Given the description of an element on the screen output the (x, y) to click on. 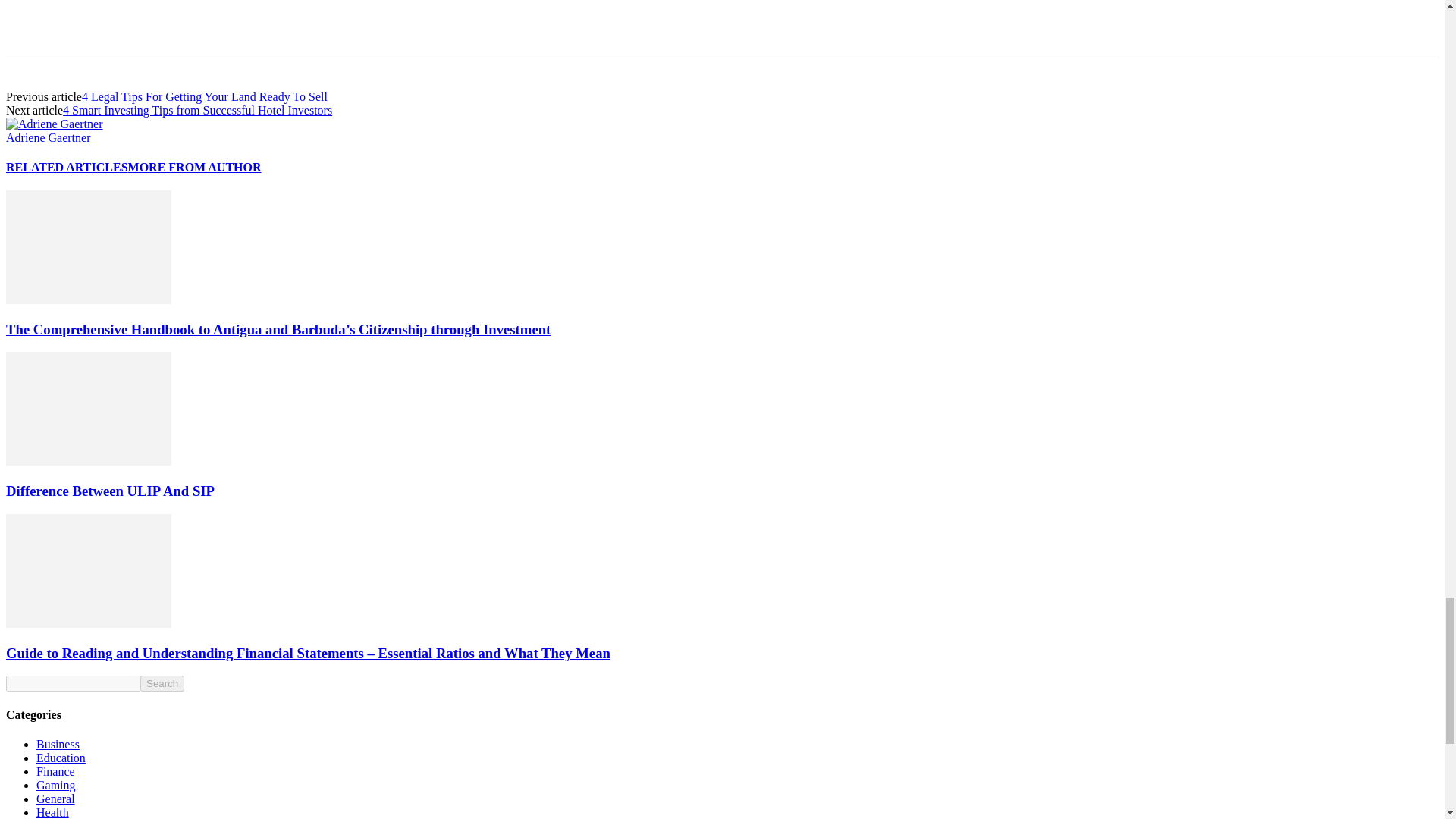
Search (161, 683)
